Given the description of an element on the screen output the (x, y) to click on. 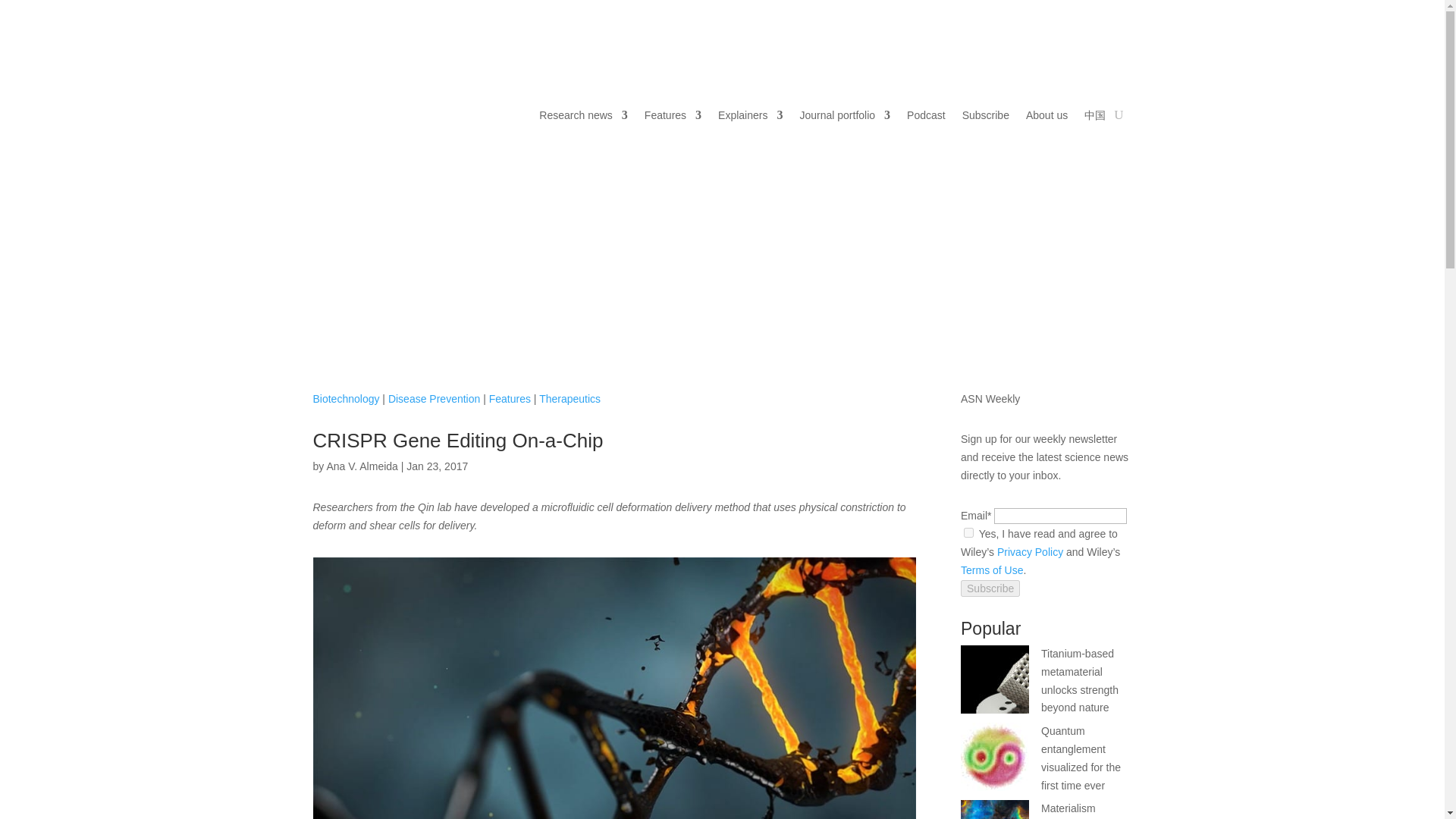
Posts by Ana V. Almeida (361, 466)
Explainers (750, 115)
Biotechnology (345, 398)
Therapeutics (568, 398)
Features (673, 115)
Privacy Policy (1029, 551)
Ana V. Almeida (361, 466)
Journal portfolio (844, 115)
true (968, 532)
Research news (582, 115)
Features (510, 398)
Disease Prevention (434, 398)
